Given the description of an element on the screen output the (x, y) to click on. 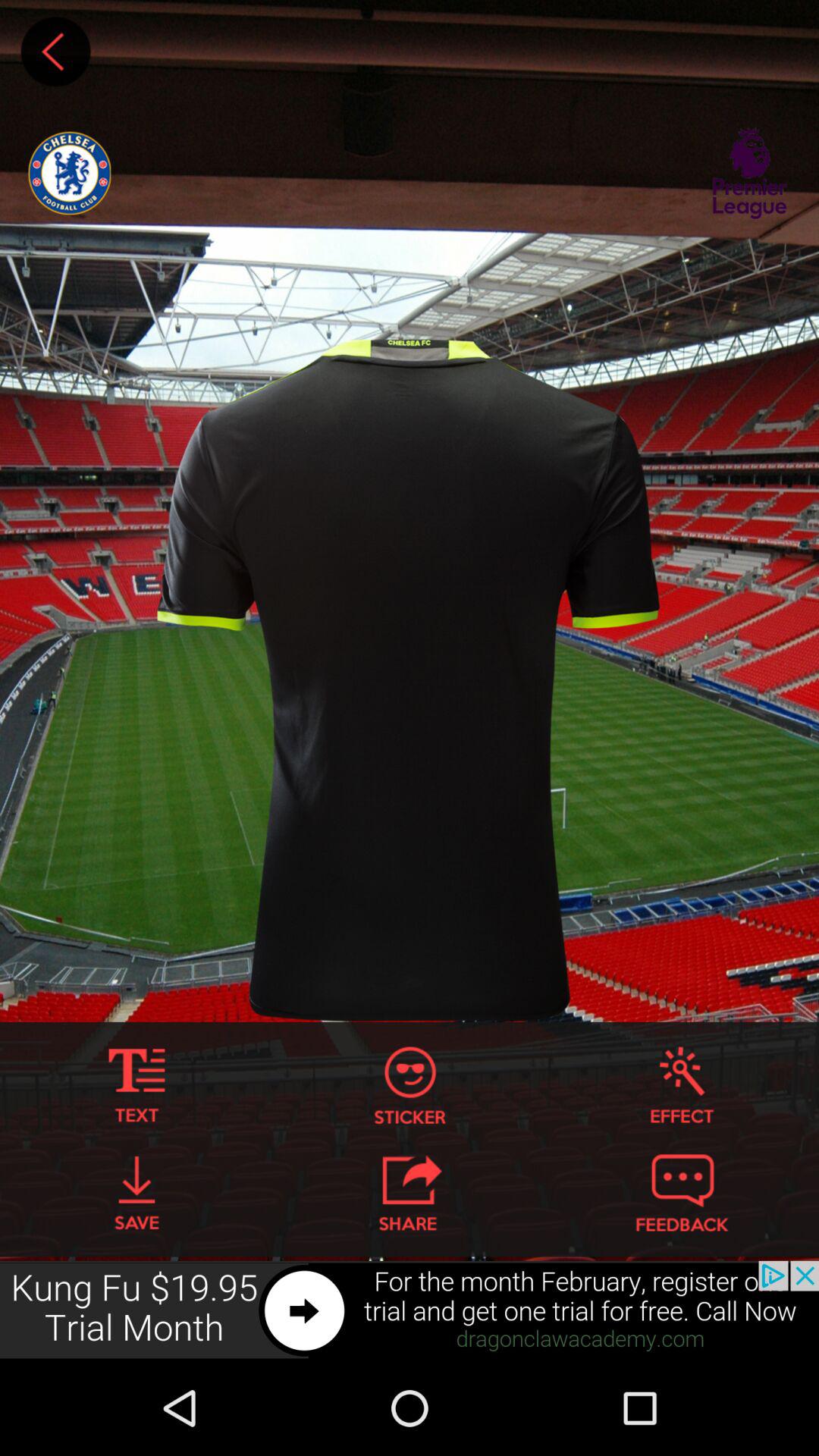
add effect (682, 1085)
